Given the description of an element on the screen output the (x, y) to click on. 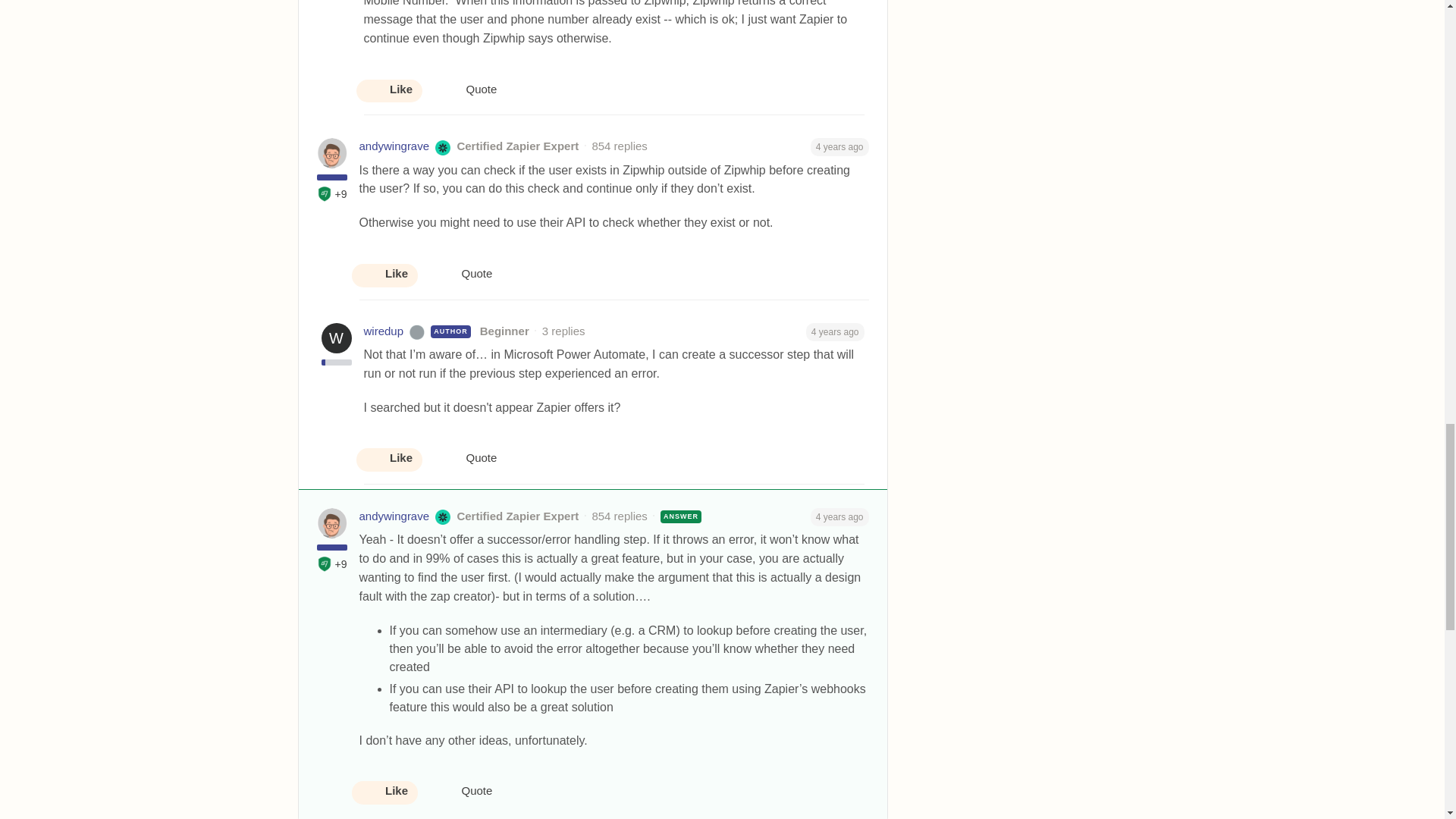
andywingrave (394, 146)
Helpful (324, 193)
Helpful (324, 563)
andywingrave (394, 516)
wiredup (384, 331)
